Given the description of an element on the screen output the (x, y) to click on. 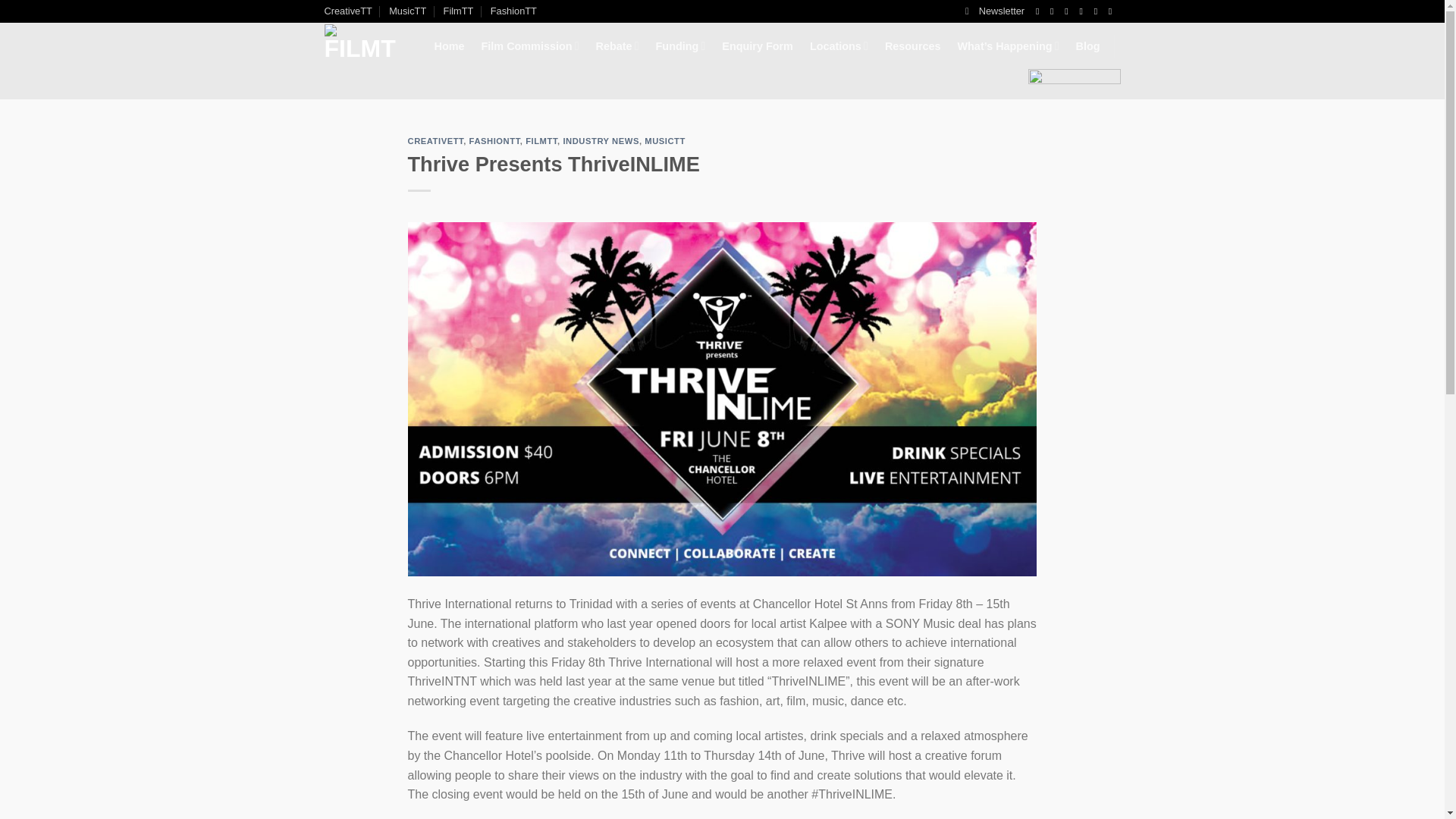
Newsletter (995, 11)
FilmTT - Trinidad and Tobago (360, 60)
Locations (838, 45)
MusicTT (407, 11)
FilmTT (459, 11)
FashionTT (513, 11)
Rebate (617, 45)
Home (448, 45)
Funding (681, 45)
Resources (912, 45)
Enquiry Form (757, 45)
Sign up for Newsletter (995, 11)
CreativeTT (348, 11)
Film Commission (530, 45)
